Given the description of an element on the screen output the (x, y) to click on. 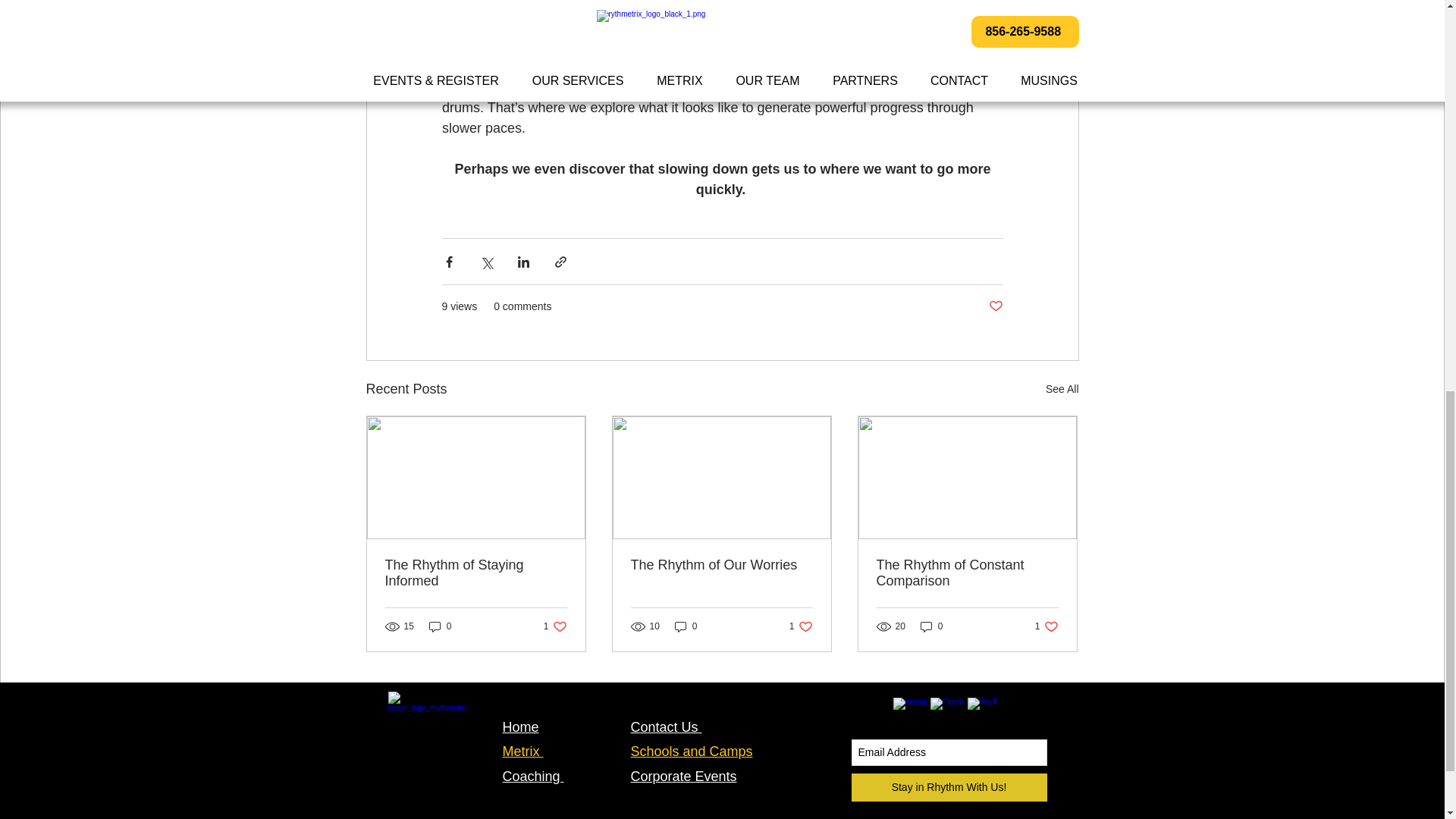
0 (685, 626)
The Rhythm of Constant Comparison (800, 626)
0 (967, 572)
Home (1046, 626)
See All (555, 626)
Post not marked as liked (440, 626)
The Rhythm of Staying Informed (520, 726)
